Given the description of an element on the screen output the (x, y) to click on. 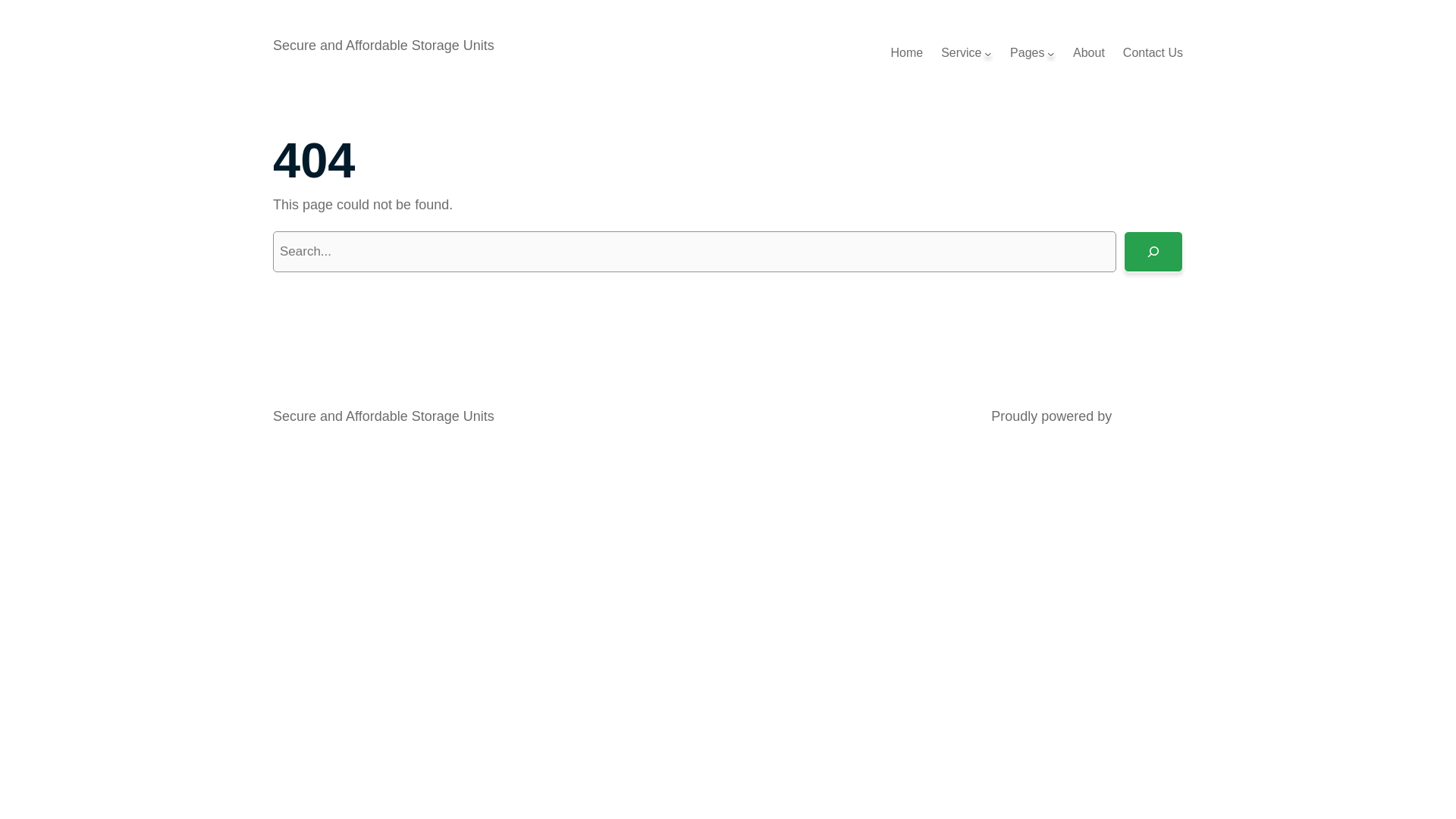
Service Element type: text (961, 53)
Secure and Affordable Storage Units Element type: text (383, 415)
About Element type: text (1088, 53)
Home Element type: text (906, 53)
Contact Us Element type: text (1153, 53)
WordPress Element type: text (1149, 415)
Secure and Affordable Storage Units Element type: text (383, 45)
Pages Element type: text (1027, 53)
